Given the description of an element on the screen output the (x, y) to click on. 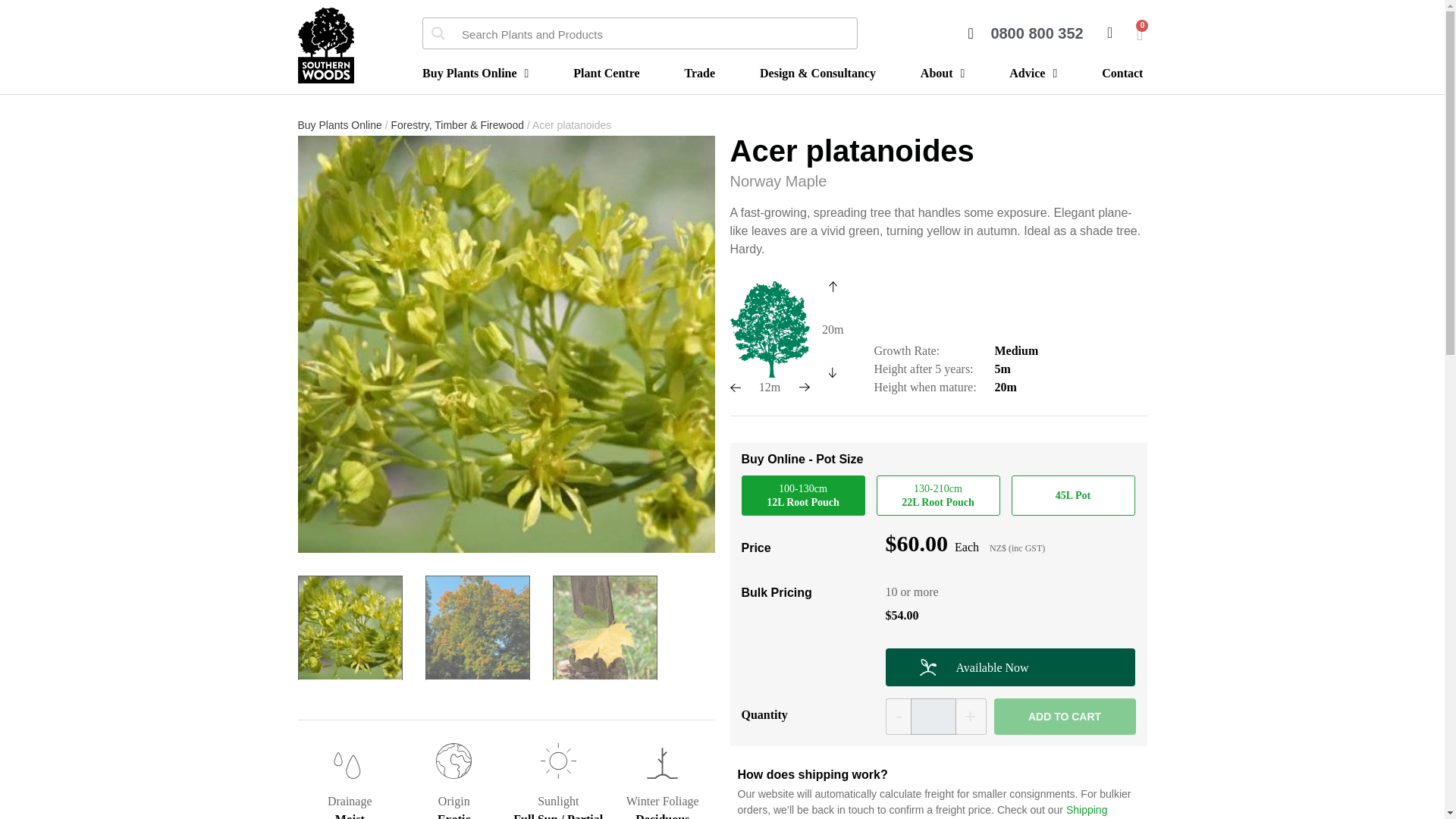
Buy Plants Online (475, 71)
0 (1139, 34)
0800 800 352 (1025, 32)
